Given the description of an element on the screen output the (x, y) to click on. 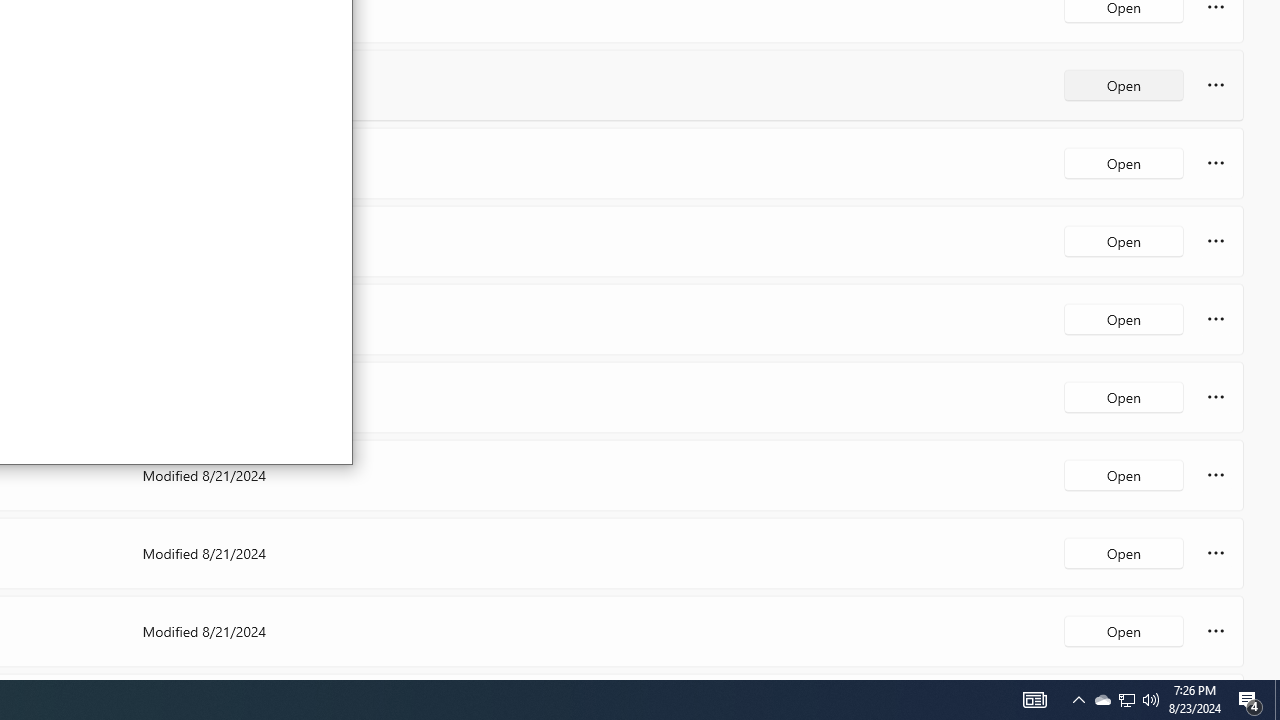
User Promoted Notification Area (1126, 699)
Action Center, 4 new notifications (1126, 699)
Open (1250, 699)
Q2790: 100% (1123, 630)
AutomationID: 4105 (1151, 699)
Notification Chevron (1034, 699)
More options (1078, 699)
Show desktop (1102, 699)
